Given the description of an element on the screen output the (x, y) to click on. 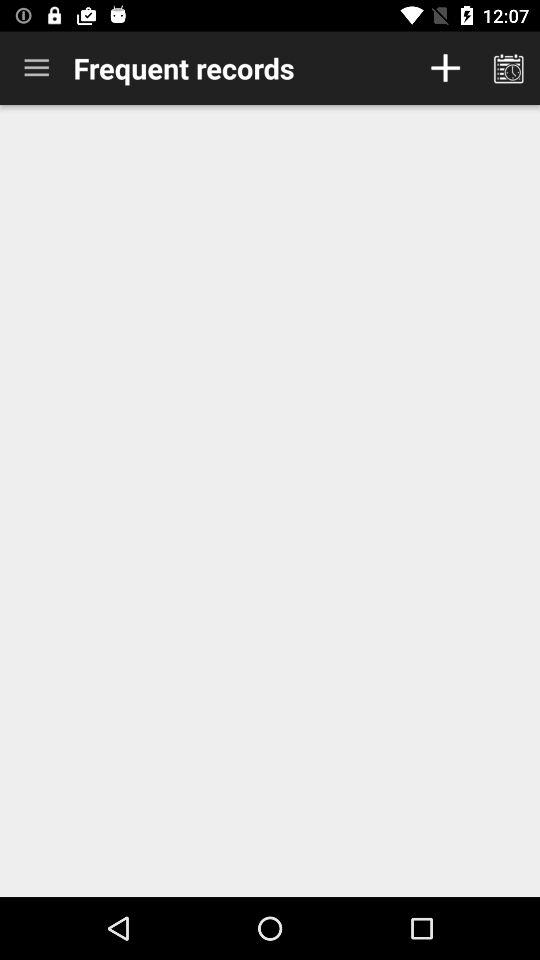
turn on item at the center (270, 500)
